Given the description of an element on the screen output the (x, y) to click on. 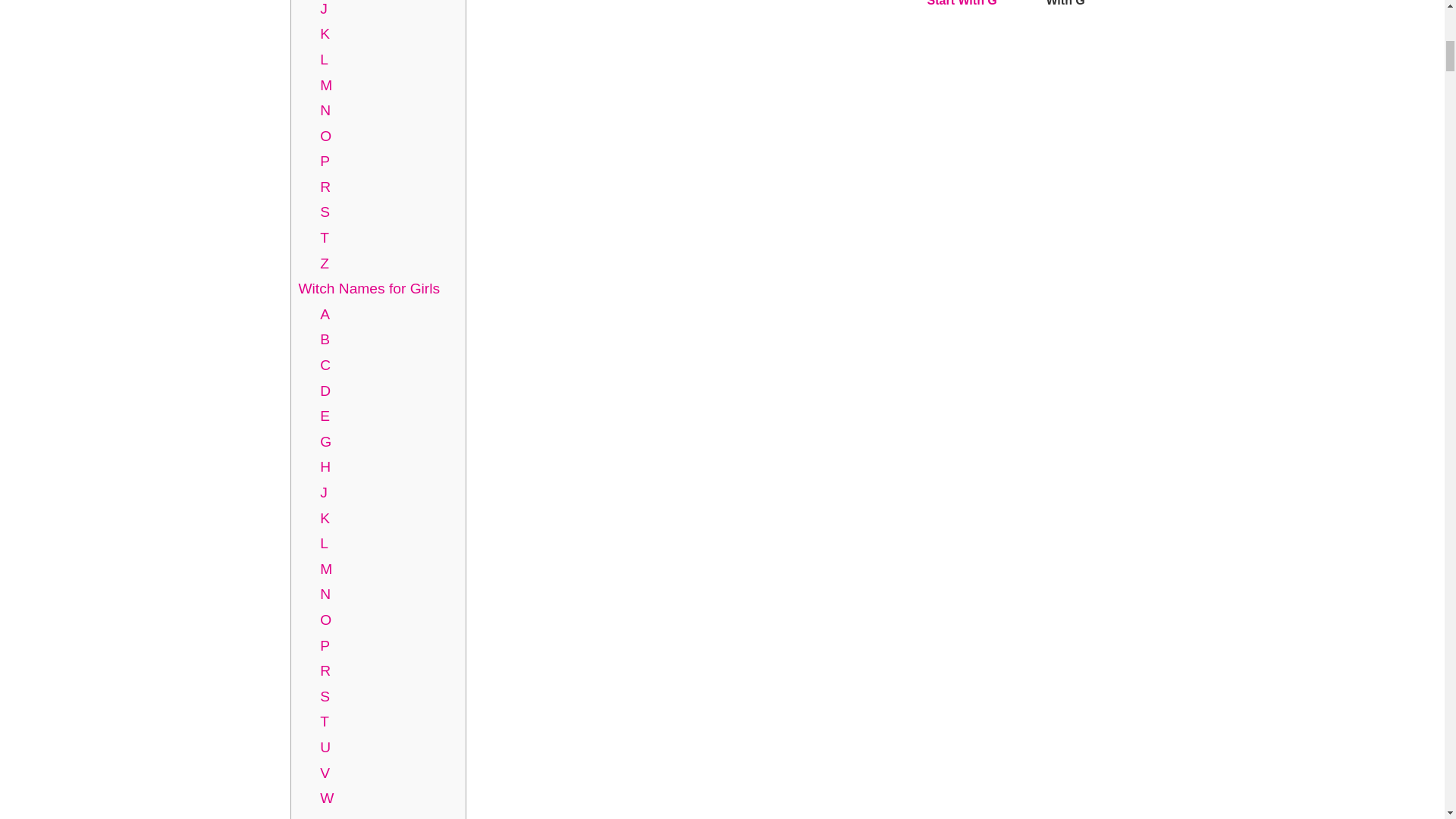
K (325, 33)
J (323, 8)
